Given the description of an element on the screen output the (x, y) to click on. 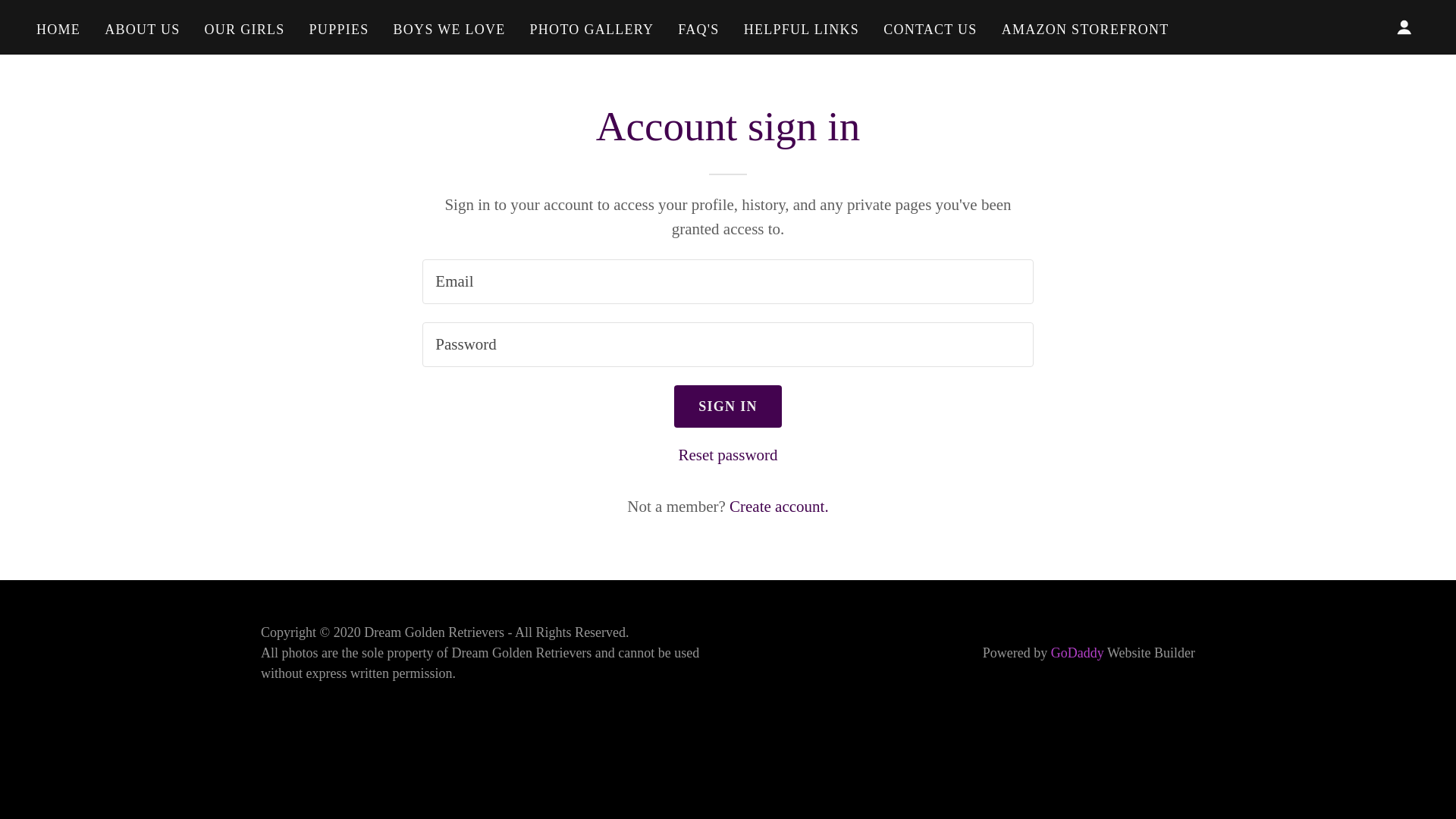
CONTACT US (930, 28)
BOYS WE LOVE (449, 28)
HELPFUL LINKS (801, 28)
OUR GIRLS (244, 28)
FAQ'S (697, 28)
ABOUT US (142, 28)
AMAZON STOREFRONT (1085, 28)
HOME (58, 28)
PHOTO GALLERY (592, 28)
PUPPIES (339, 28)
